Given the description of an element on the screen output the (x, y) to click on. 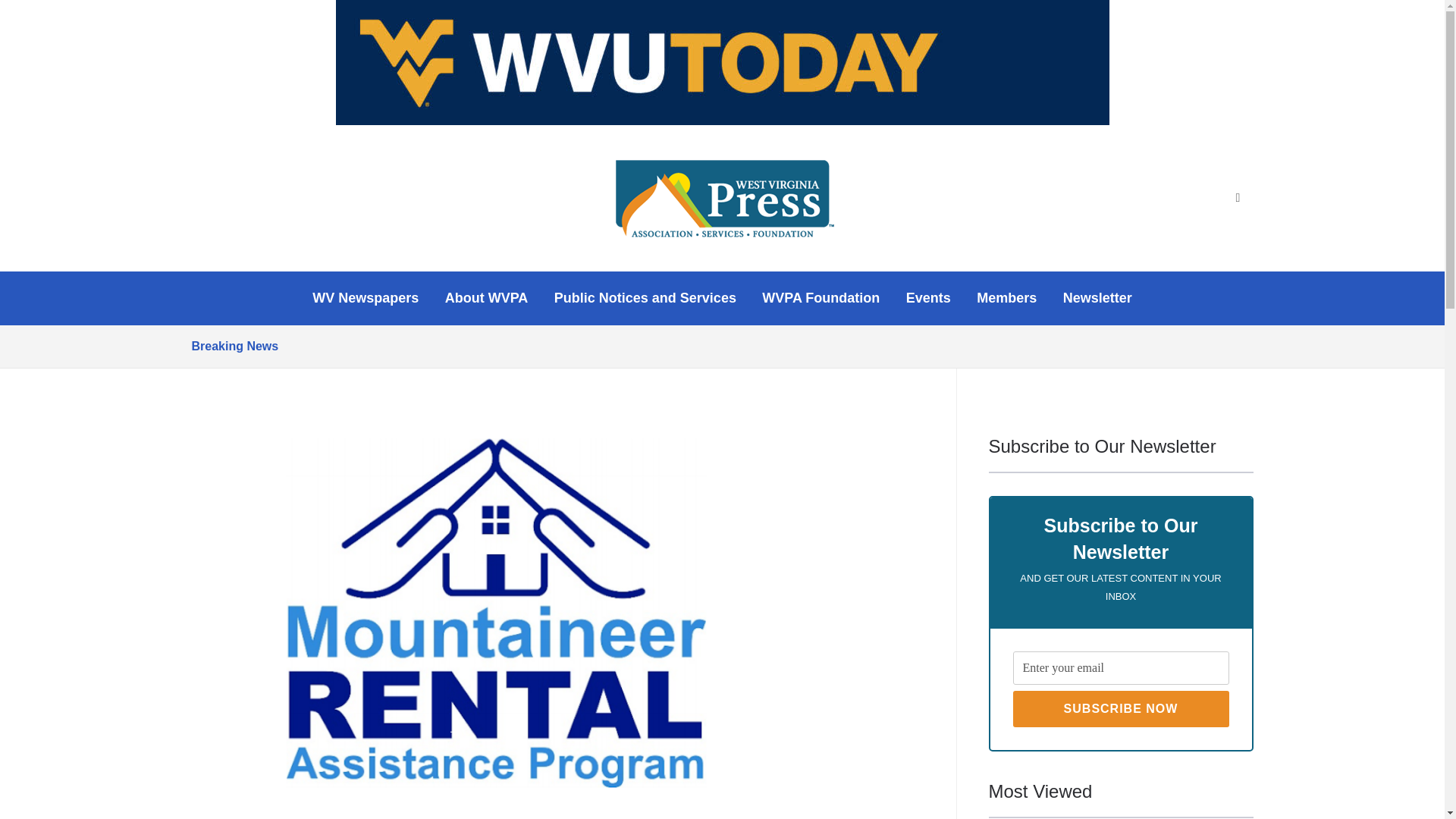
Search (1237, 198)
WV Newspapers (366, 298)
Subscribe Now (1120, 709)
About WVPA (486, 298)
Public Notices and Services (645, 298)
